Given the description of an element on the screen output the (x, y) to click on. 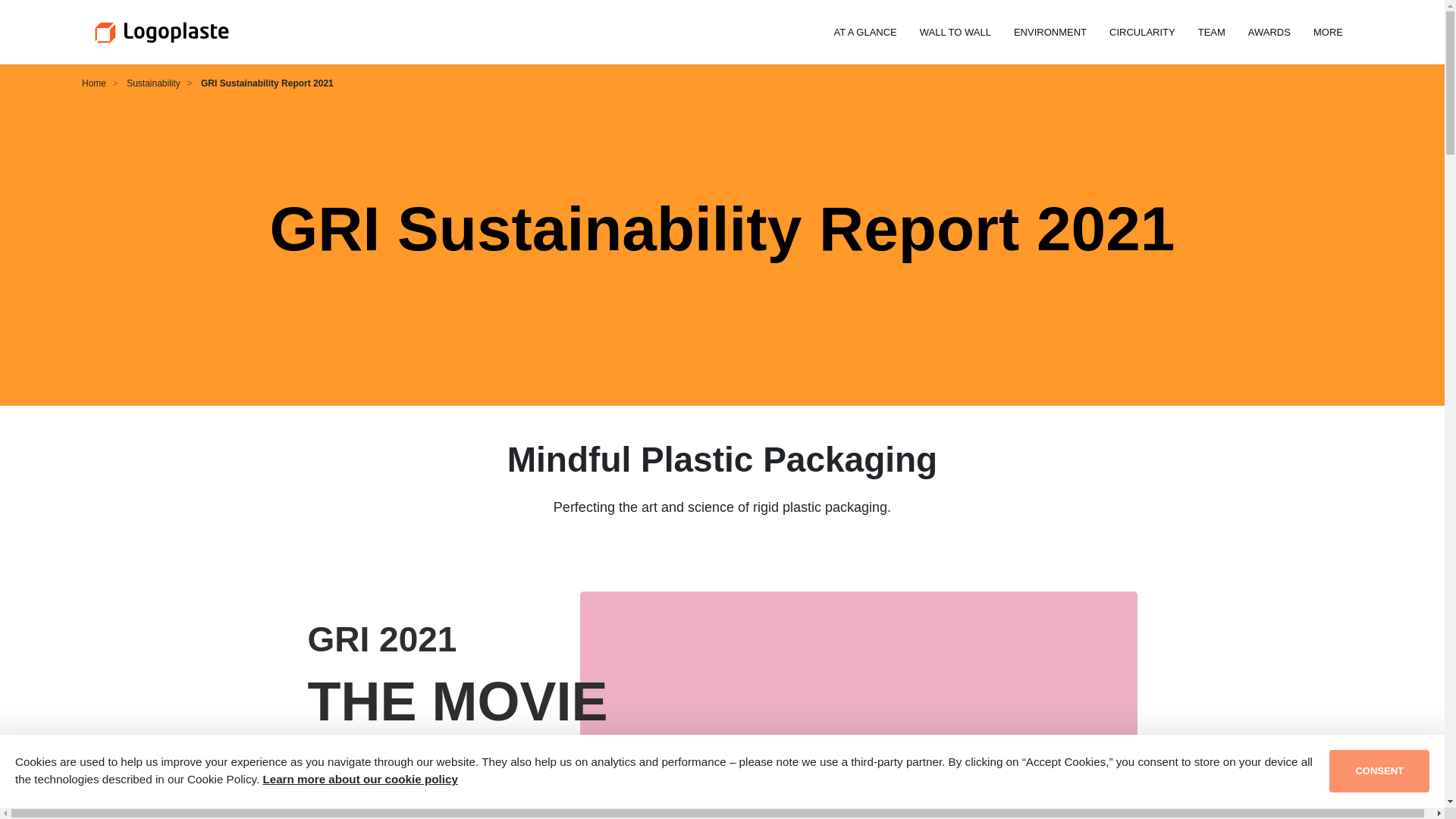
AWARDS (1268, 32)
AT A GLANCE (864, 32)
Home (93, 82)
Logoplaste (161, 32)
WALL TO WALL (955, 32)
ENVIRONMENT (1050, 32)
GRI Sustainability Report 2021 (266, 82)
CIRCULARITY (1141, 32)
Learn more about our cookie policy (359, 779)
